Given the description of an element on the screen output the (x, y) to click on. 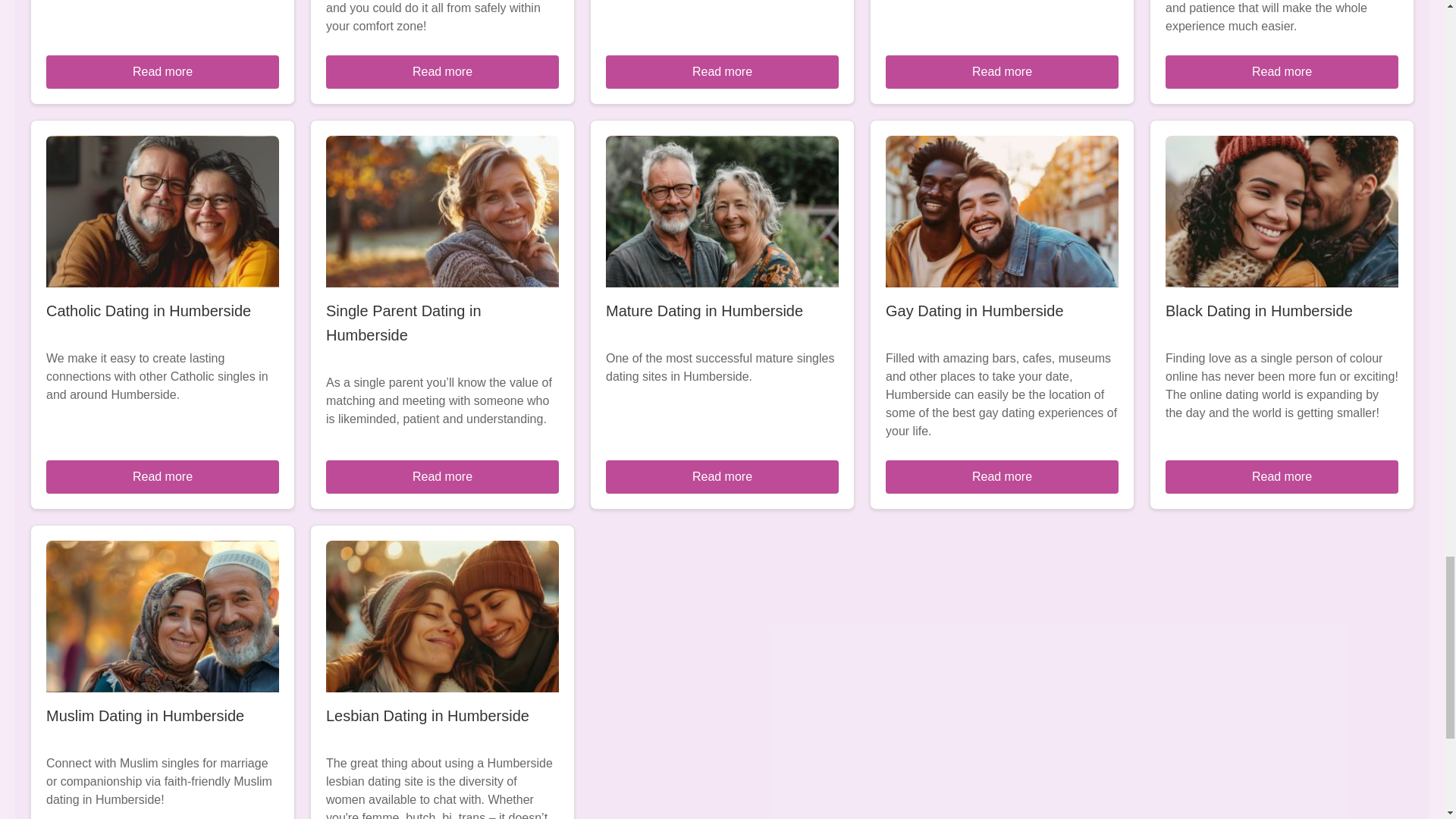
Read more (721, 476)
Read more (162, 71)
Read more (1001, 476)
Read more (162, 476)
Read more (721, 71)
Read more (1001, 71)
Read more (442, 71)
Read more (442, 476)
Read more (1281, 476)
Read more (1281, 71)
